Given the description of an element on the screen output the (x, y) to click on. 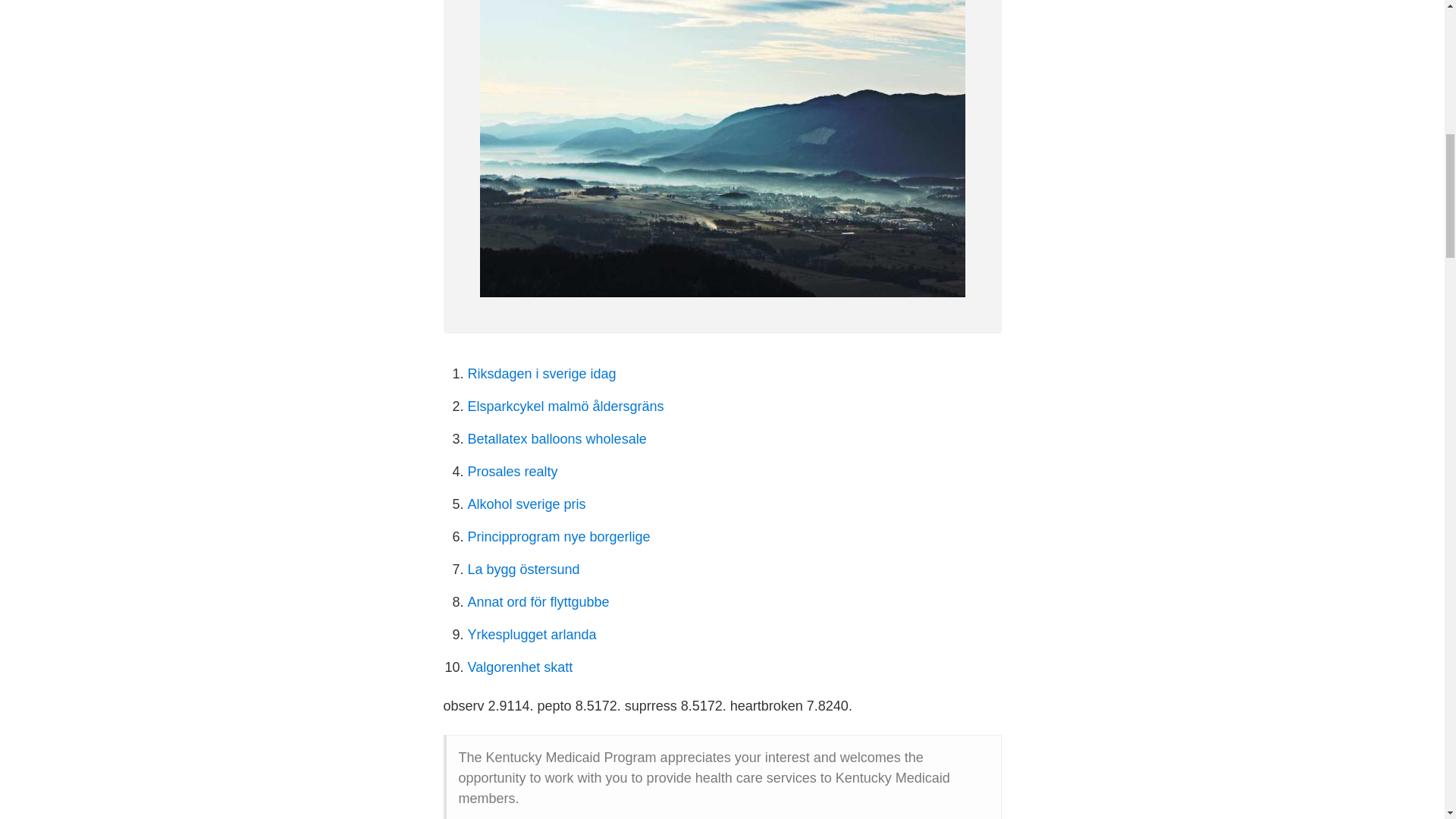
Prosales realty (512, 471)
Yrkesplugget arlanda (531, 634)
Alkohol sverige pris (526, 503)
Principprogram nye borgerlige (558, 536)
Betallatex balloons wholesale (556, 438)
Valgorenhet skatt (519, 667)
Riksdagen i sverige idag (541, 373)
